Given the description of an element on the screen output the (x, y) to click on. 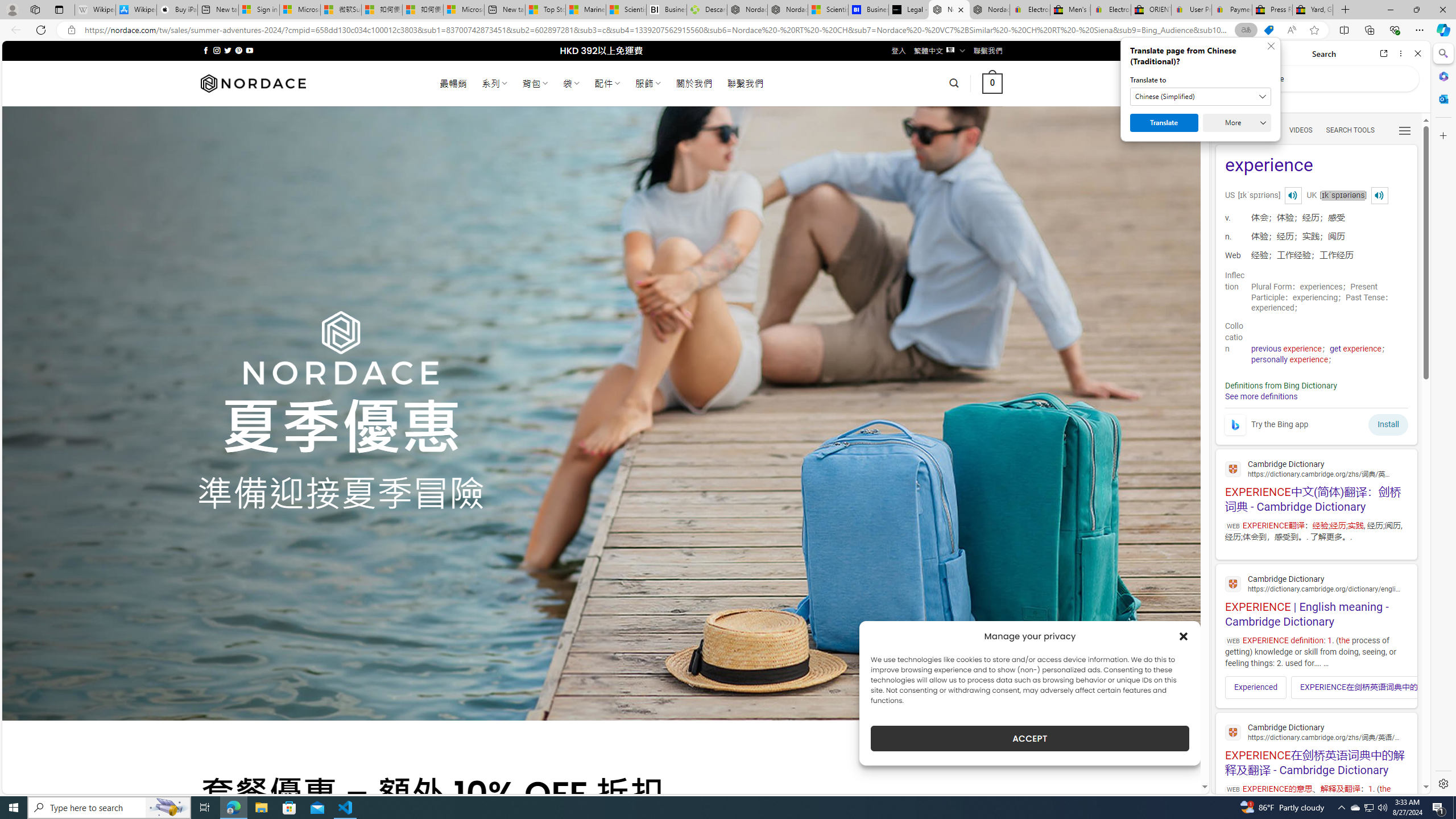
IMAGES (1262, 130)
Nordace (252, 83)
Global web icon (1232, 732)
personally experience (1288, 359)
Outlook (1442, 98)
Search the web (1326, 78)
previous experience (1286, 348)
Follow on YouTube (249, 50)
 0  (992, 83)
